Given the description of an element on the screen output the (x, y) to click on. 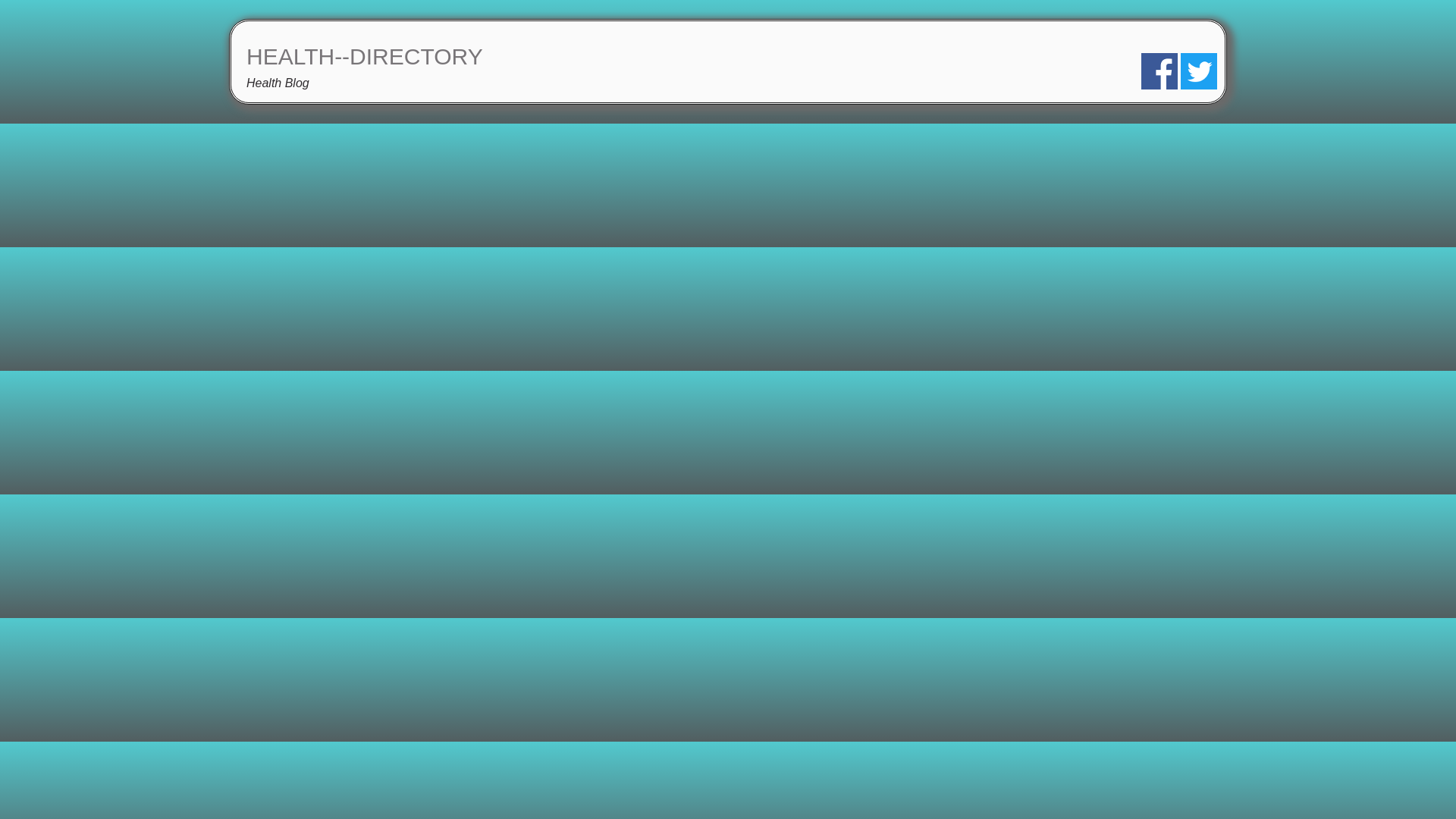
HEALTH--DIRECTORY (364, 56)
